Given the description of an element on the screen output the (x, y) to click on. 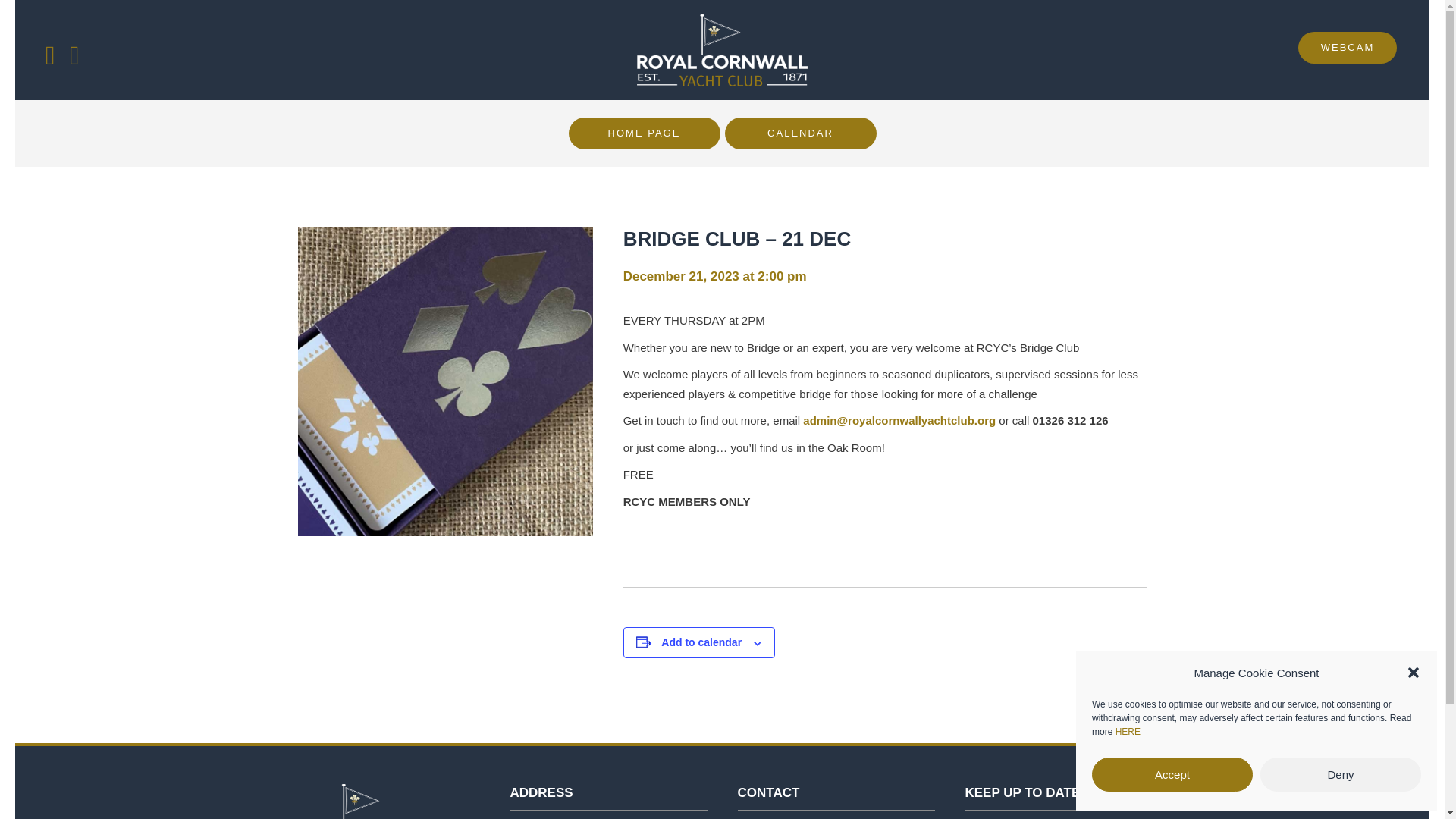
full-logo-with-pole-on-dark-background-outlined (361, 801)
HERE (1127, 731)
WEBCAM (1347, 47)
full-logo-with-pole-on-dark-background-outlined (722, 50)
Deny (1340, 774)
HOME PAGE (644, 133)
CALENDAR (800, 133)
bridge-club (444, 381)
Add to calendar (701, 642)
Accept (1172, 774)
